Given the description of an element on the screen output the (x, y) to click on. 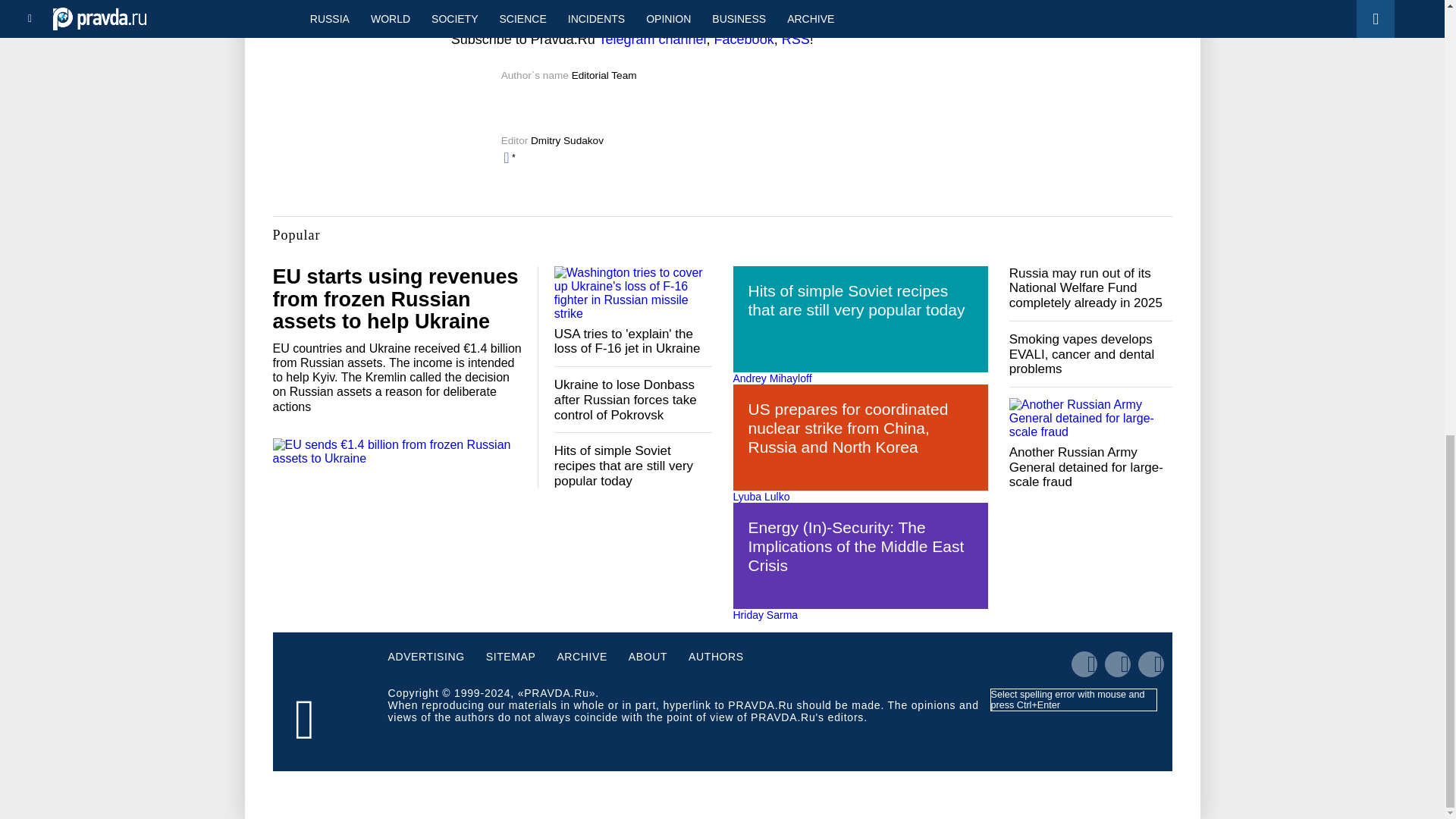
RSS (795, 38)
Telegram channel (652, 38)
Facebook (744, 38)
